Given the description of an element on the screen output the (x, y) to click on. 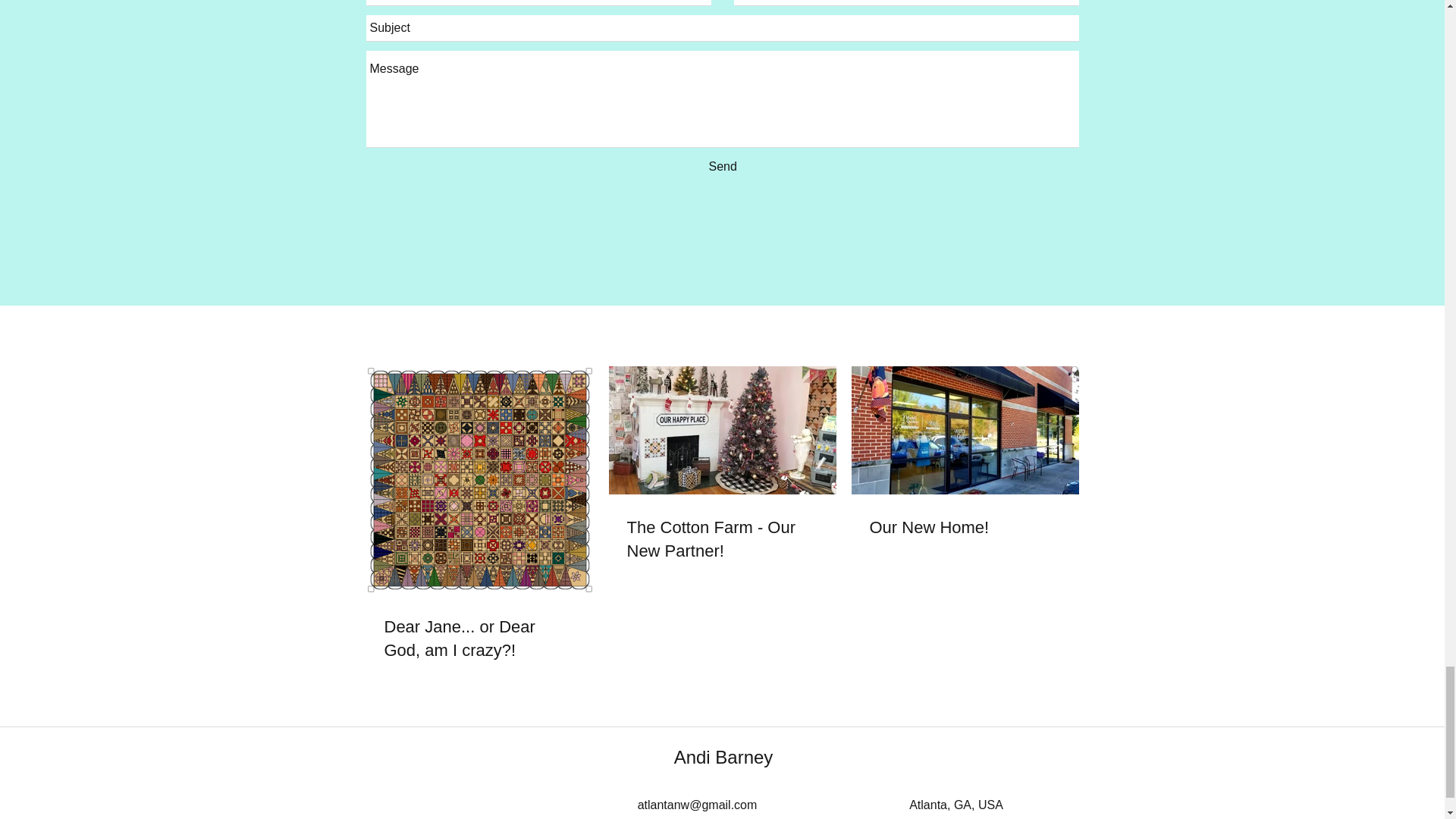
Dear Jane... or Dear God, am I crazy?! (479, 638)
The Cotton Farm - Our New Partner! (721, 539)
Send (721, 167)
Our New Home! (964, 527)
